Given the description of an element on the screen output the (x, y) to click on. 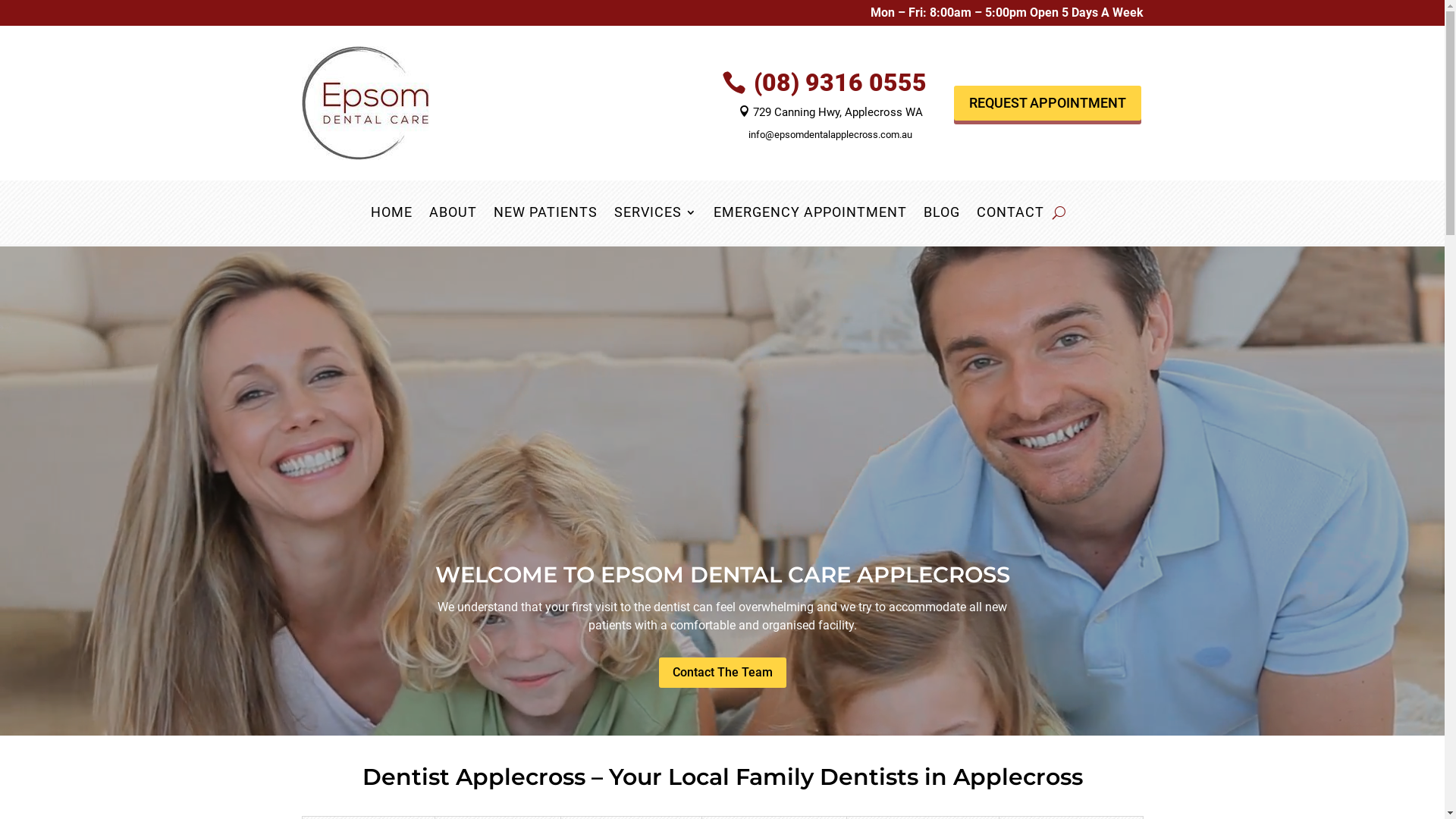
BLOG Element type: text (941, 215)
REQUEST APPOINTMENT Element type: text (1047, 102)
(08) 9316 0555 Element type: text (839, 82)
NEW PATIENTS Element type: text (545, 215)
info@epsomdentalapplecross.com.au Element type: text (830, 133)
HOME Element type: text (391, 215)
Dentist Applecross Element type: text (473, 776)
EMERGENCY APPOINTMENT Element type: text (809, 215)
SERVICES Element type: text (655, 215)
ABOUT Element type: text (452, 215)
CONTACT Element type: text (1010, 215)
Contact The Team Element type: text (721, 672)
